Given the description of an element on the screen output the (x, y) to click on. 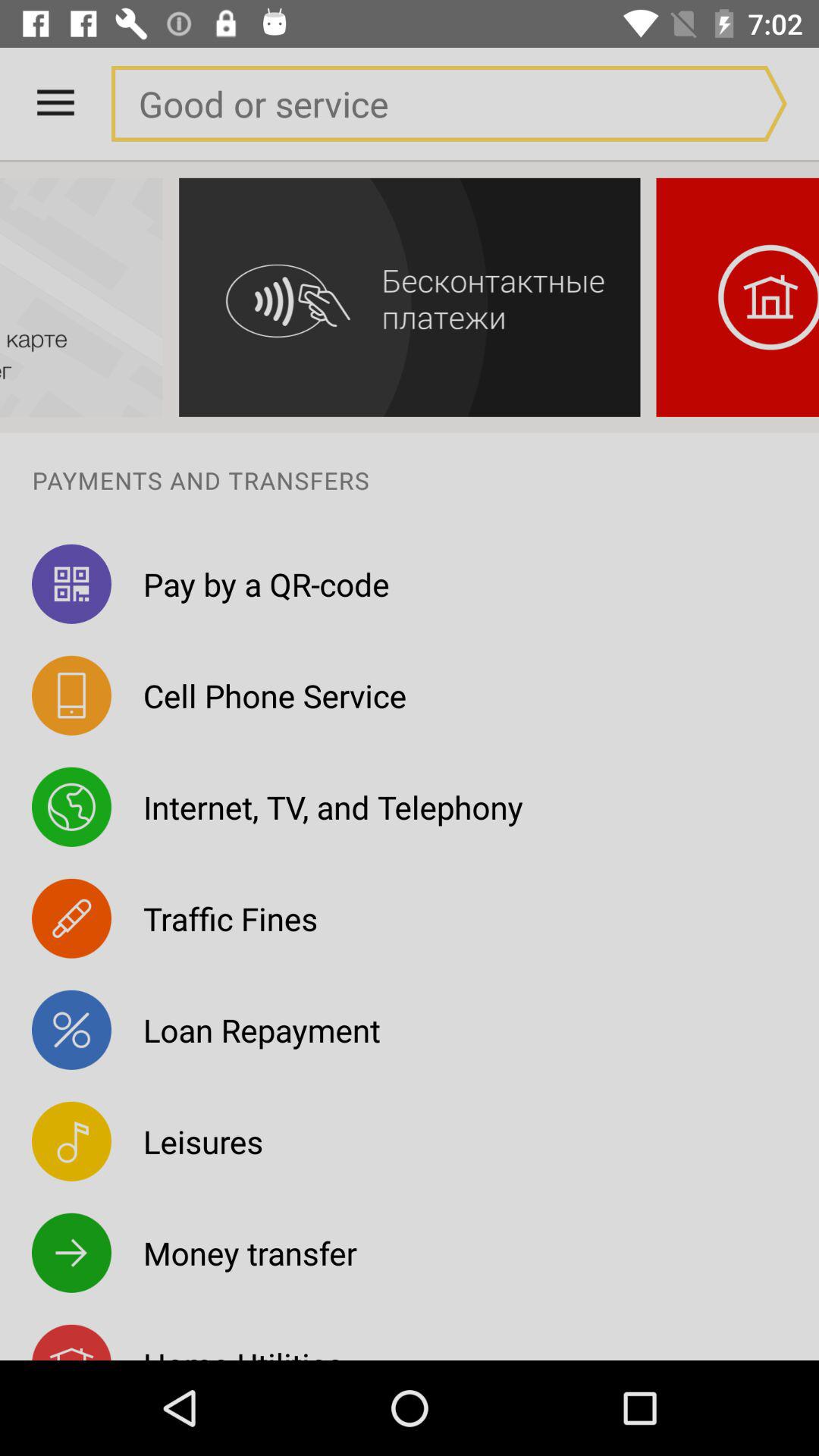
type in good or service (417, 103)
